Given the description of an element on the screen output the (x, y) to click on. 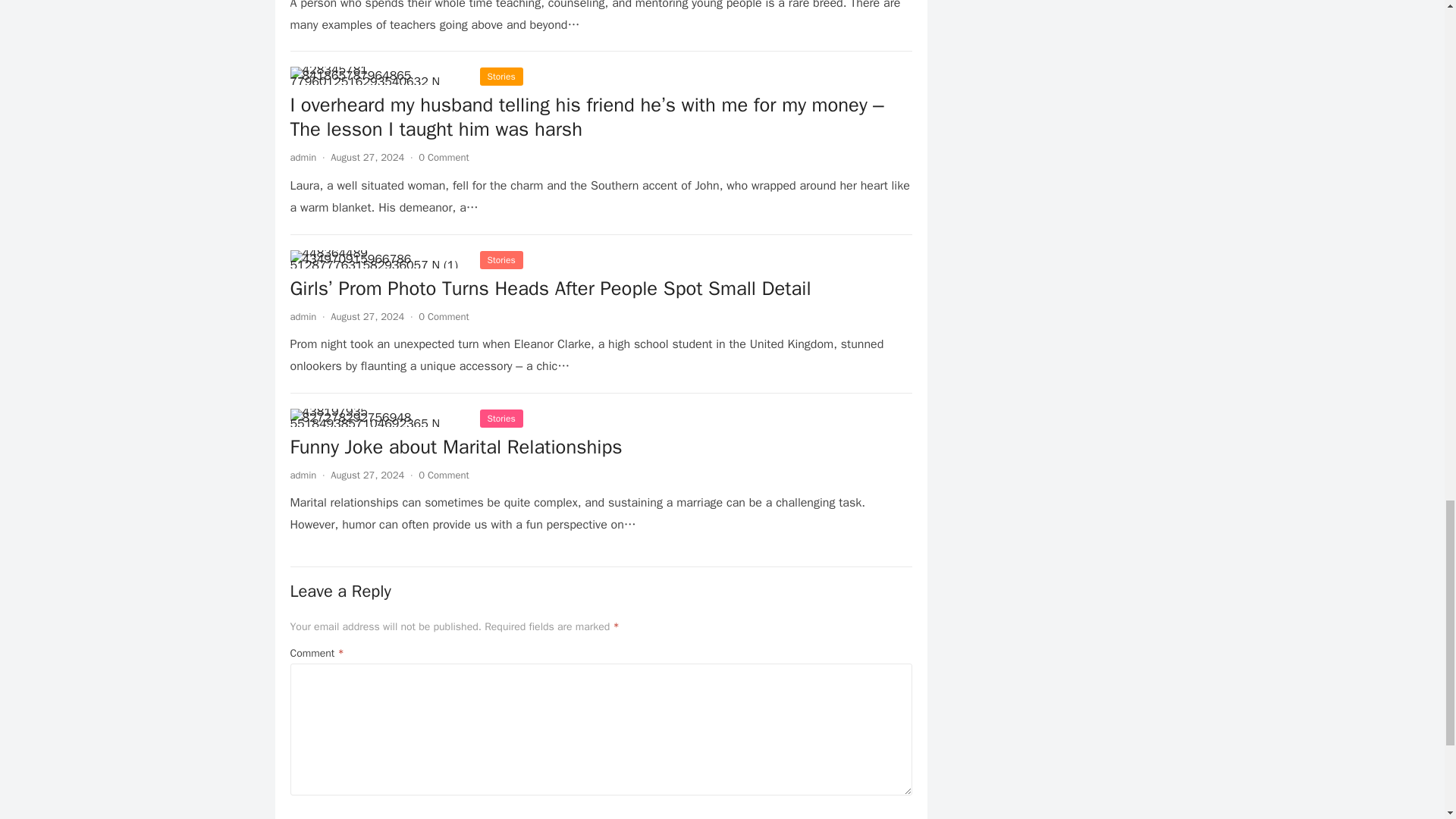
Posts by admin (302, 316)
Posts by admin (302, 474)
Posts by admin (302, 156)
